Given the description of an element on the screen output the (x, y) to click on. 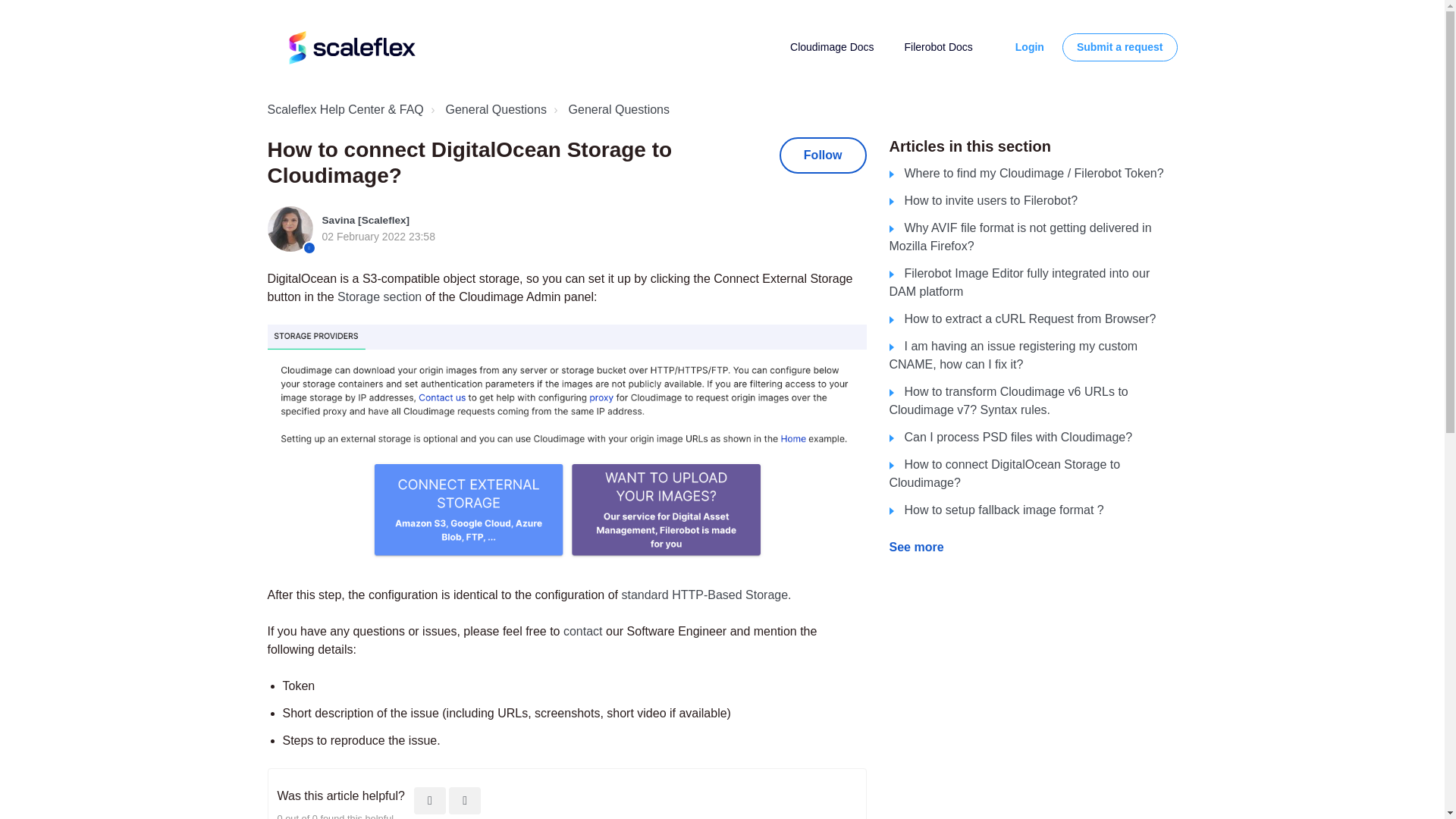
Can I process PSD files with Cloudimage? (1010, 437)
Cloudimage Docs (832, 46)
2022-02-02 23:58 (377, 236)
Opens a dialogue (1028, 47)
General Questions (486, 109)
Submit a request (1119, 47)
How to invite users to Filerobot? (982, 201)
Home (350, 46)
How to setup fallback image format ? (995, 509)
How to extract a cURL Request from Browser? (1022, 318)
General Questions (609, 109)
contact (582, 631)
Filerobot Docs (938, 46)
